Given the description of an element on the screen output the (x, y) to click on. 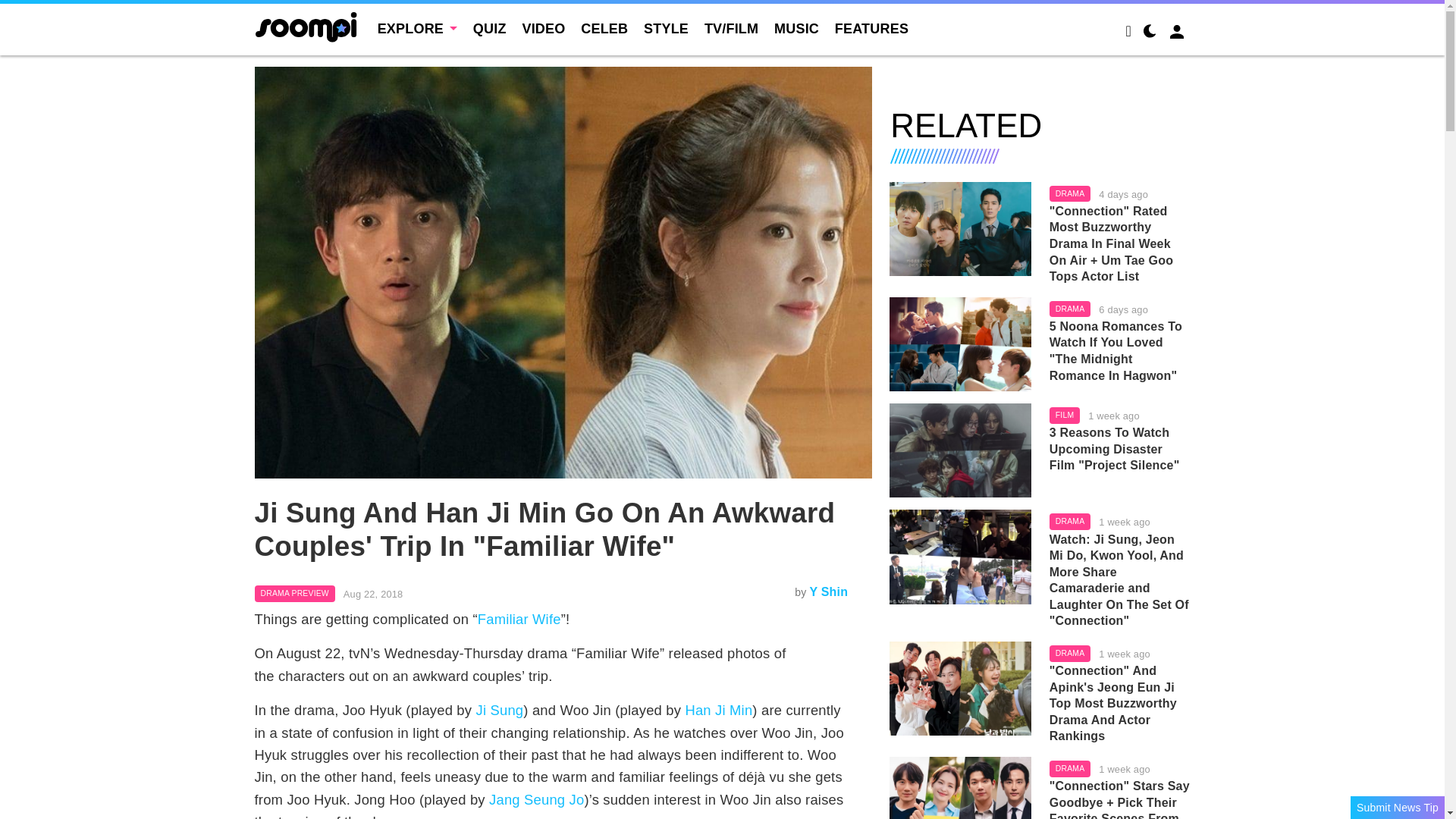
DRAMA PREVIEW (294, 593)
Y Shin (828, 591)
Night Mode Toggle (1149, 33)
STYLE (665, 28)
Han Ji Min (718, 709)
Familiar Wife (518, 618)
Jang Seung Jo (536, 799)
Ji Sung (500, 709)
FEATURES (871, 28)
MUSIC (796, 28)
Drama Preview (294, 593)
VIDEO (542, 28)
QUIZ (489, 28)
Articles by Y Shin (828, 591)
CELEB (603, 28)
